Given the description of an element on the screen output the (x, y) to click on. 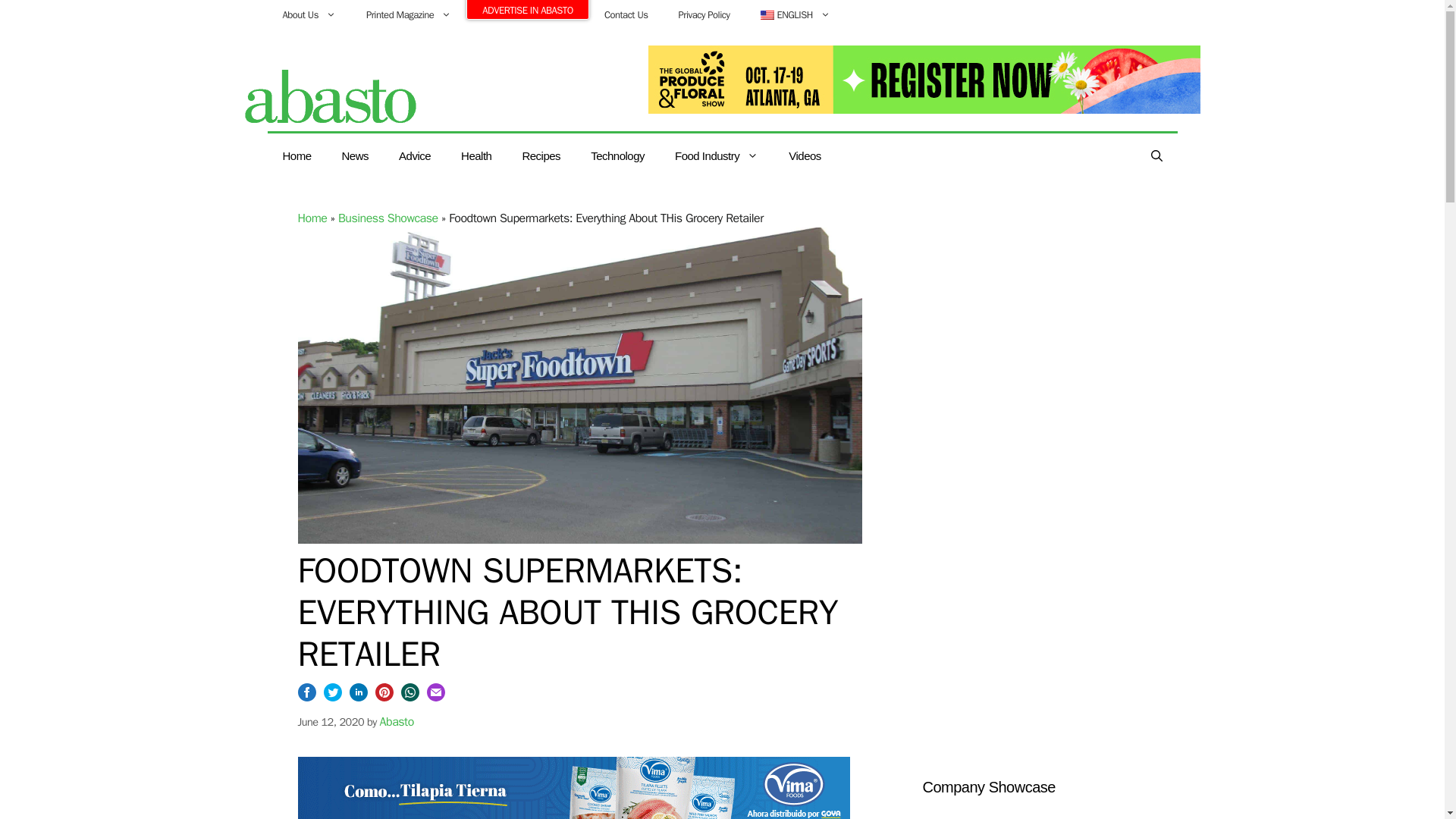
Email this post! (435, 697)
Recipes (540, 156)
English (795, 15)
Advice (414, 156)
News (355, 156)
ADVERTISE IN ABASTO (527, 9)
Pin this post! (383, 697)
Home (311, 218)
Share this post! (357, 697)
ENGLISH (795, 15)
Business Showcase (387, 218)
Technology (617, 156)
About Us (308, 15)
Videos (804, 156)
Share this post! (306, 697)
